Given the description of an element on the screen output the (x, y) to click on. 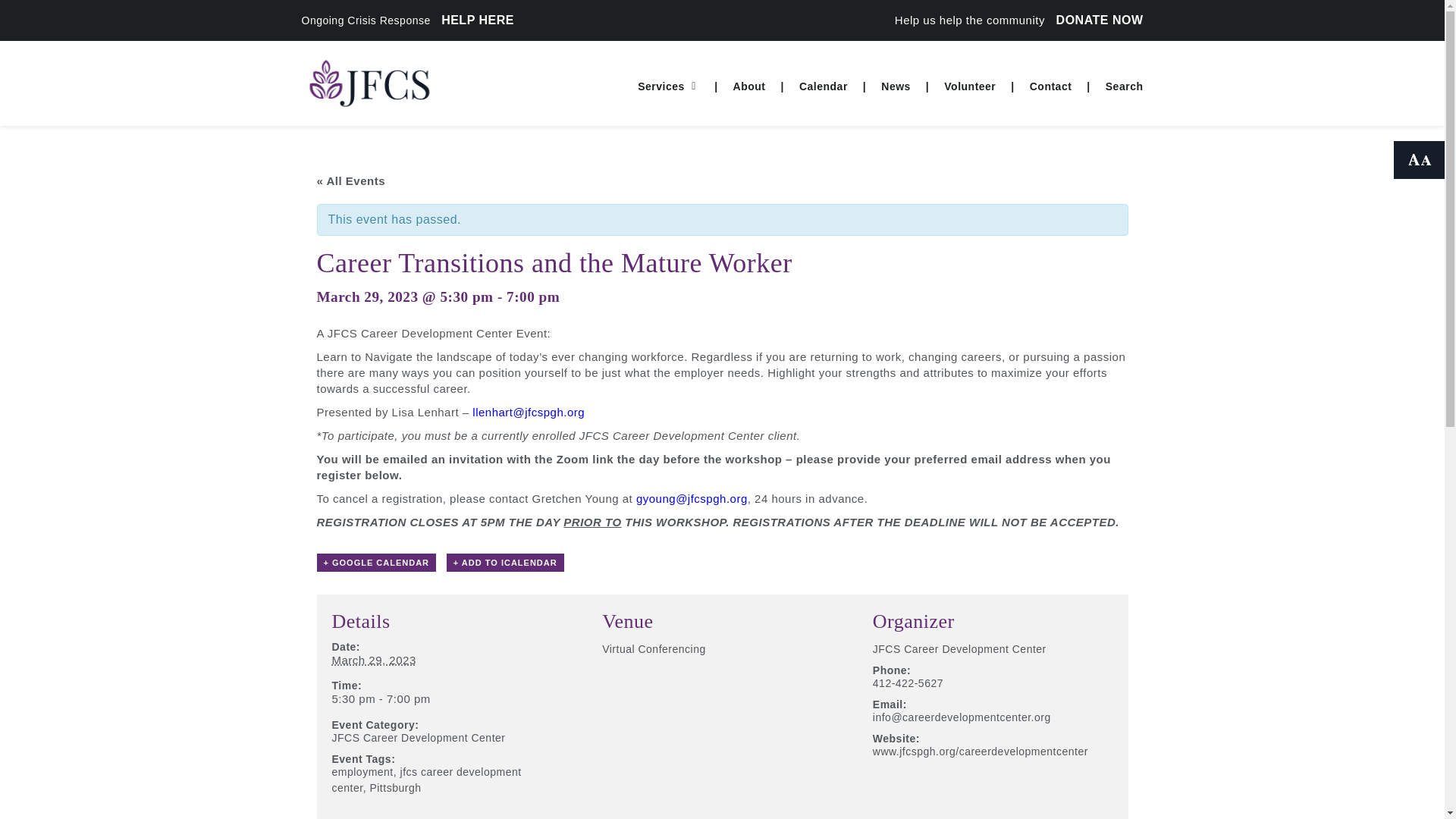
Contact (1050, 86)
JFCS Career Development Center (418, 737)
Download .ics file (505, 562)
About (748, 86)
2023-03-29 (442, 660)
Volunteer (969, 86)
jfcs career development center (426, 779)
Pittsburgh (394, 787)
JFCS Career Development Center (959, 648)
News (896, 86)
employment (362, 771)
Contact (1050, 86)
Search (1120, 86)
Calendar (823, 86)
Add to Google Calendar (376, 562)
